Given the description of an element on the screen output the (x, y) to click on. 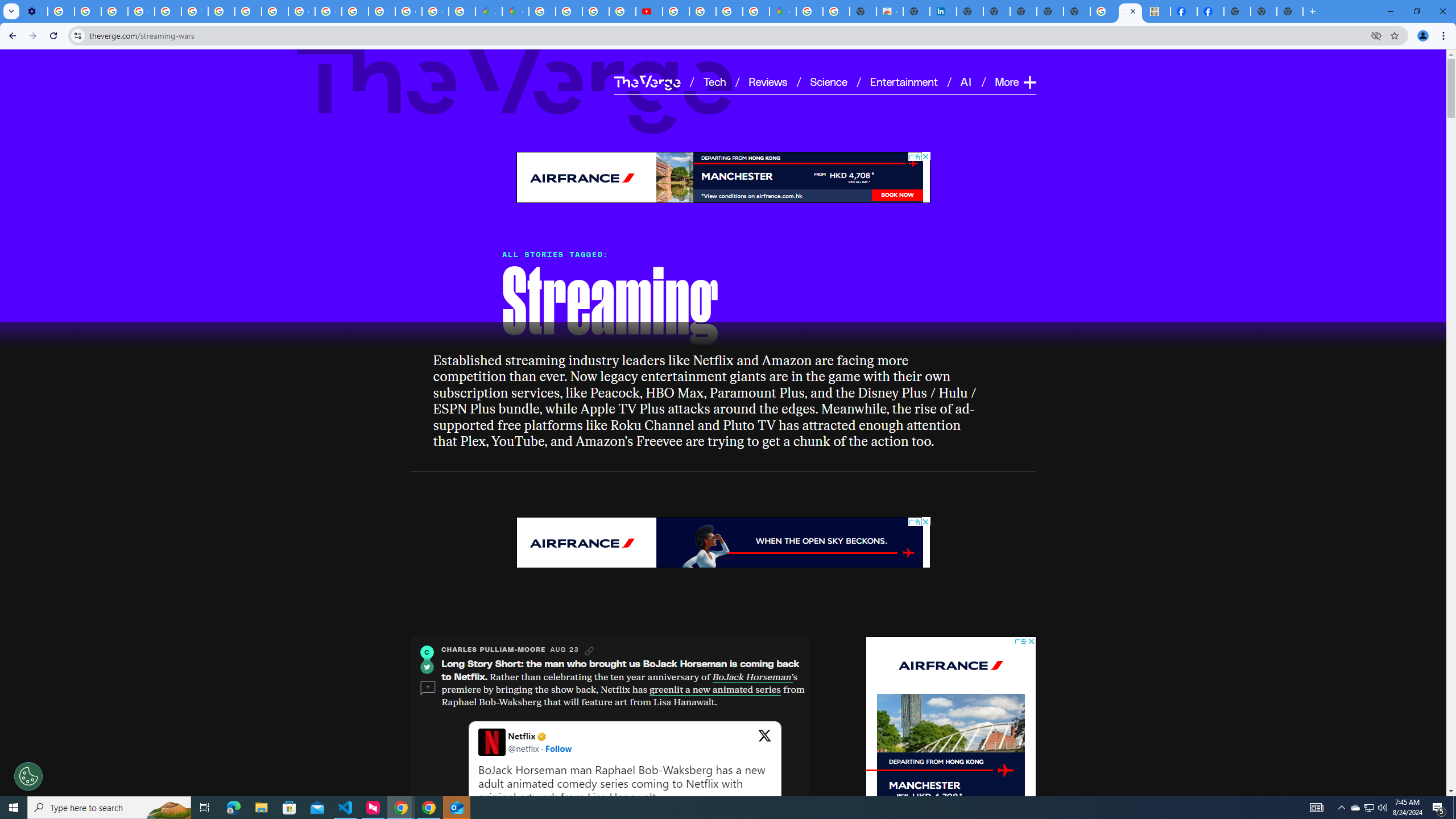
View on X (764, 741)
Chrome Web Store (889, 11)
Miley Cyrus | Facebook (1183, 11)
Privacy Help Center - Policies Help (167, 11)
Expand (1029, 81)
Miley Cyrus | Facebook (1210, 11)
MILEY CYRUS. (1156, 11)
Delete photos & videos - Computer - Google Photos Help (61, 11)
New Tab (1236, 11)
